Given the description of an element on the screen output the (x, y) to click on. 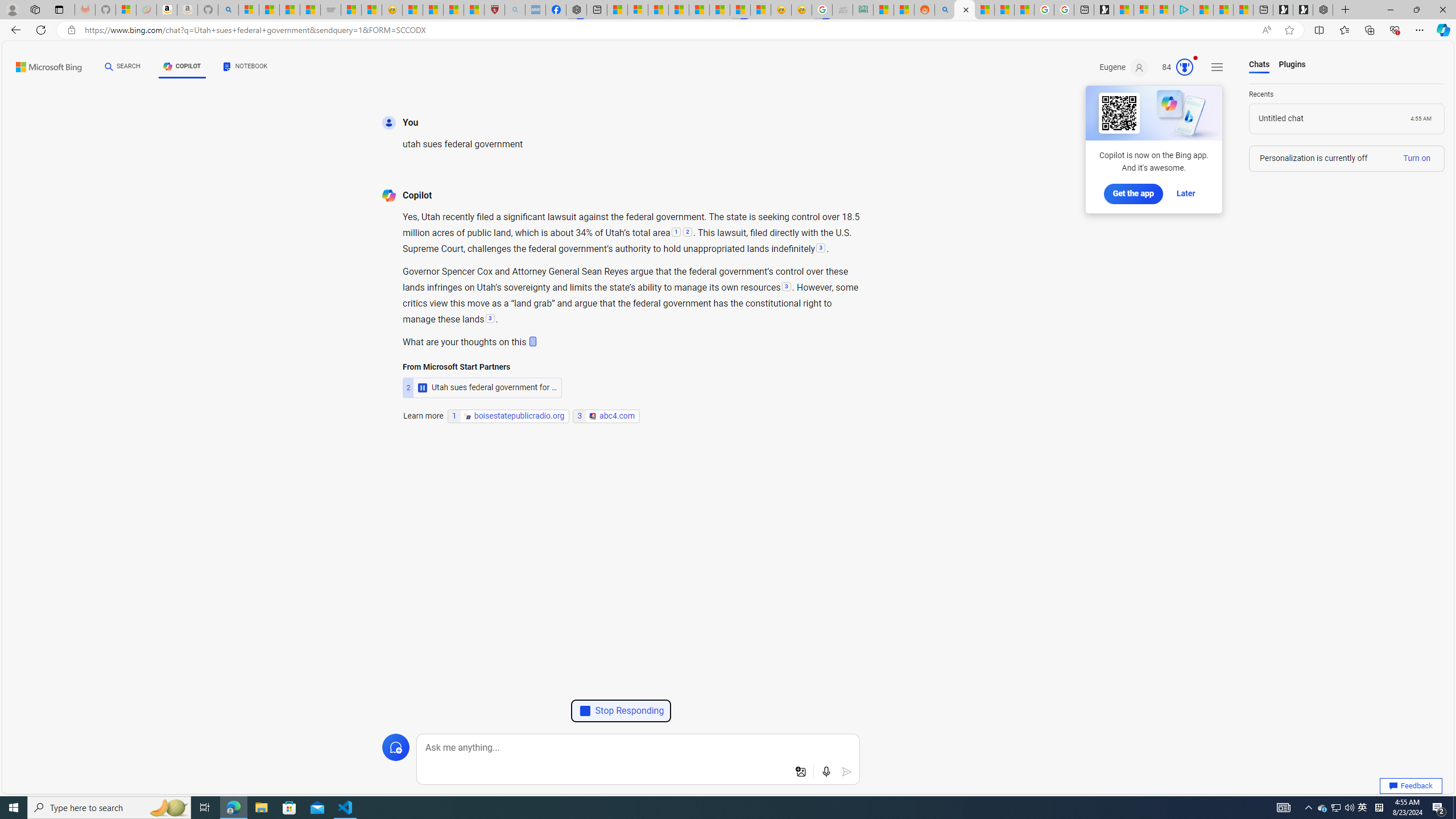
Turn on (1416, 157)
Stop Responding (620, 710)
Ask me anything... (637, 748)
